Given the description of an element on the screen output the (x, y) to click on. 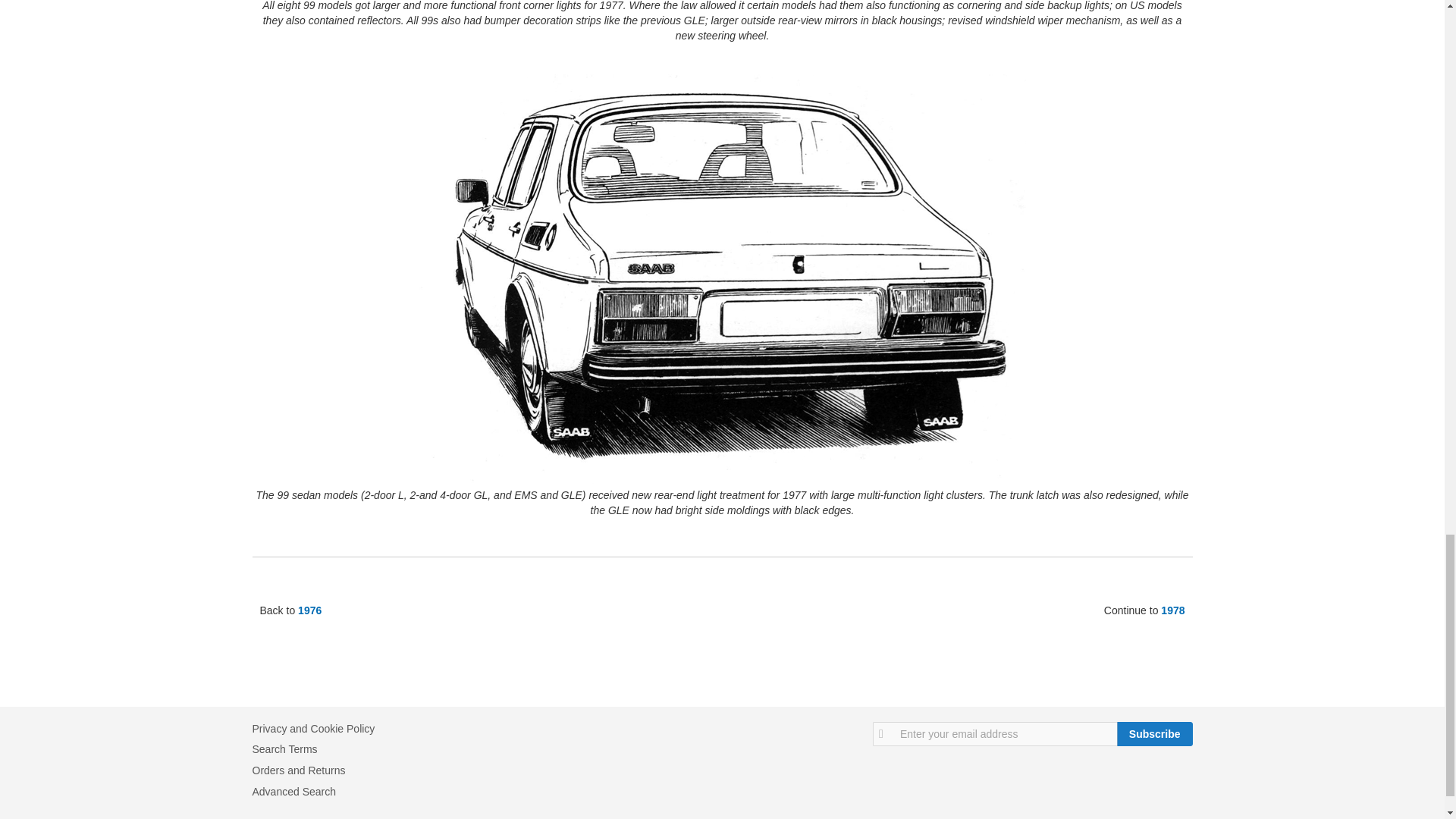
Subscribe (1154, 733)
